Given the description of an element on the screen output the (x, y) to click on. 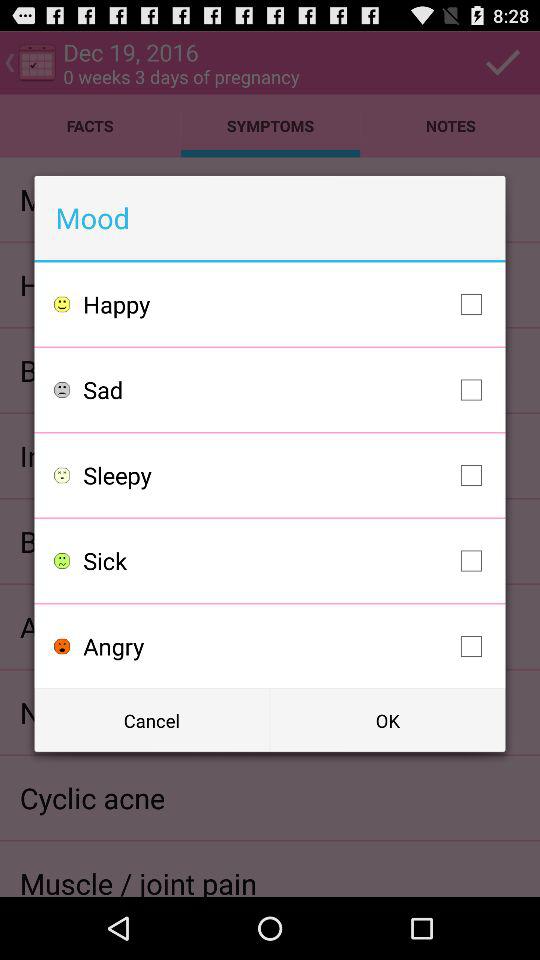
click the item to the left of the ok (151, 720)
